Given the description of an element on the screen output the (x, y) to click on. 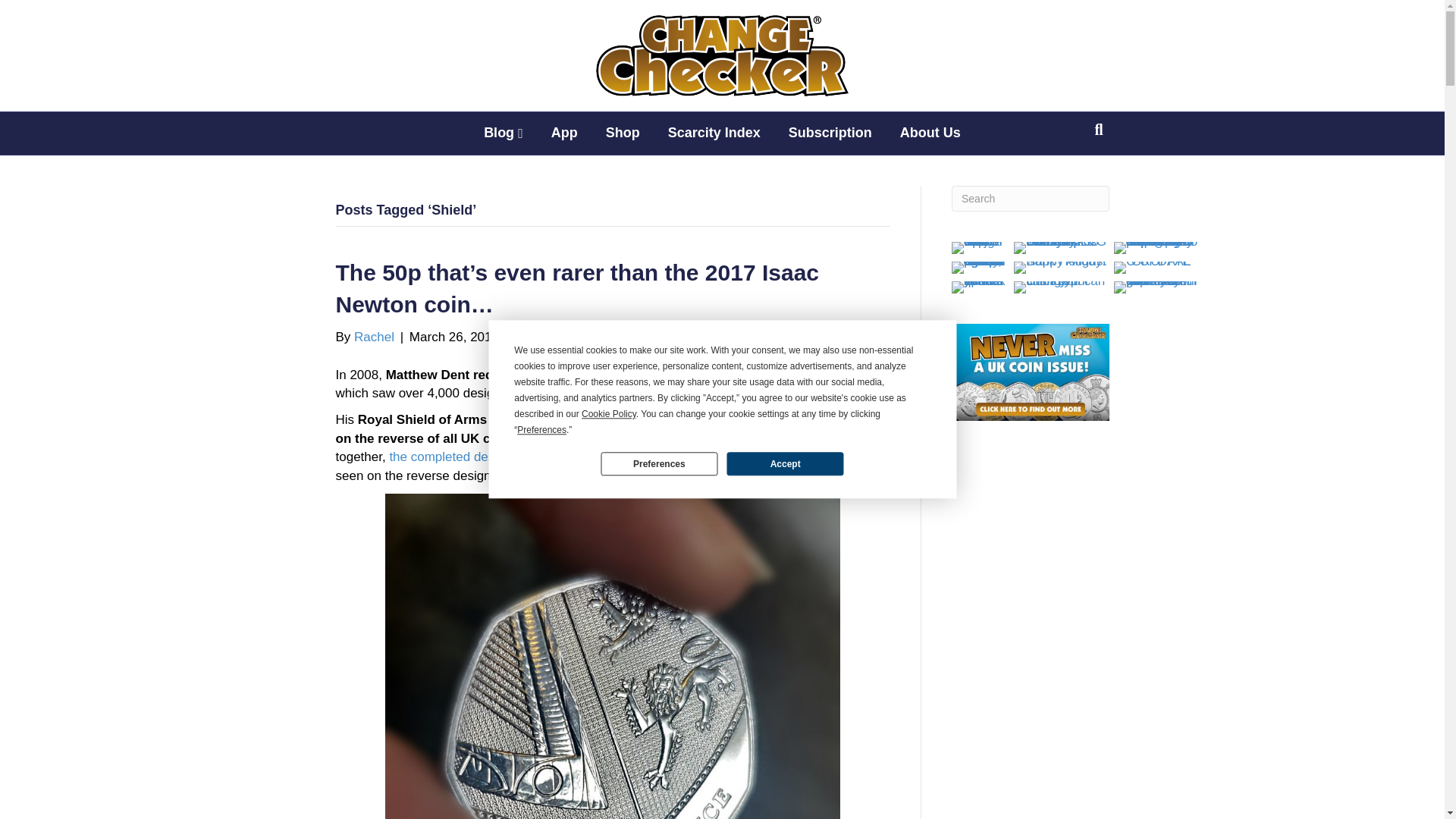
Subscription (829, 132)
Scarcity Index (714, 132)
Type and press Enter to search. (1030, 198)
Accept (784, 463)
About Us (930, 132)
Blog (503, 133)
App (563, 132)
Preferences (658, 463)
Shop (623, 132)
